Given the description of an element on the screen output the (x, y) to click on. 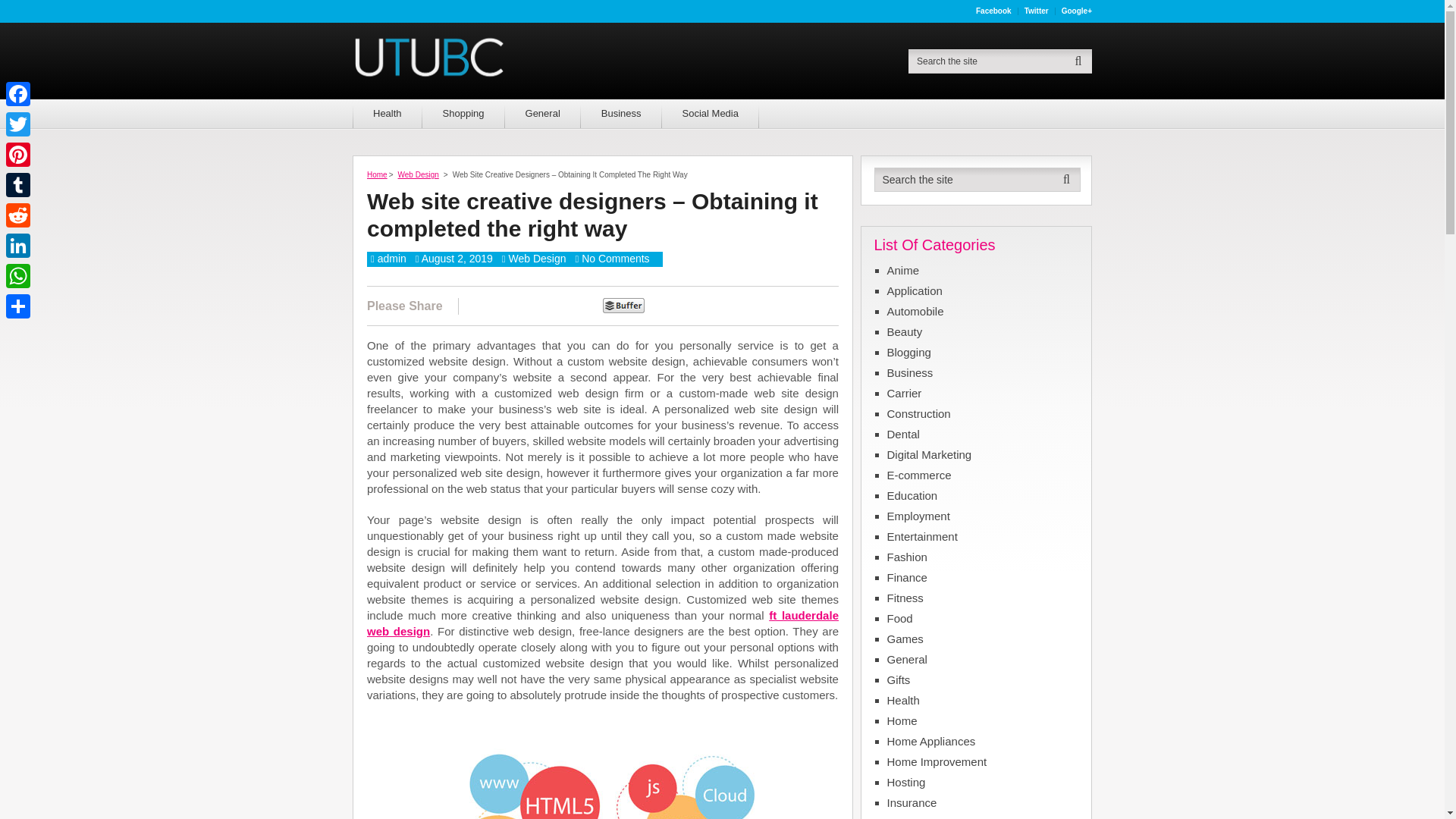
Home (376, 174)
Business (621, 113)
Web Design (418, 174)
Social Media (710, 113)
Posts by admin (391, 258)
Health (387, 113)
Twitter (1036, 11)
General (542, 113)
admin (391, 258)
View all posts in Web Design (537, 258)
